Given the description of an element on the screen output the (x, y) to click on. 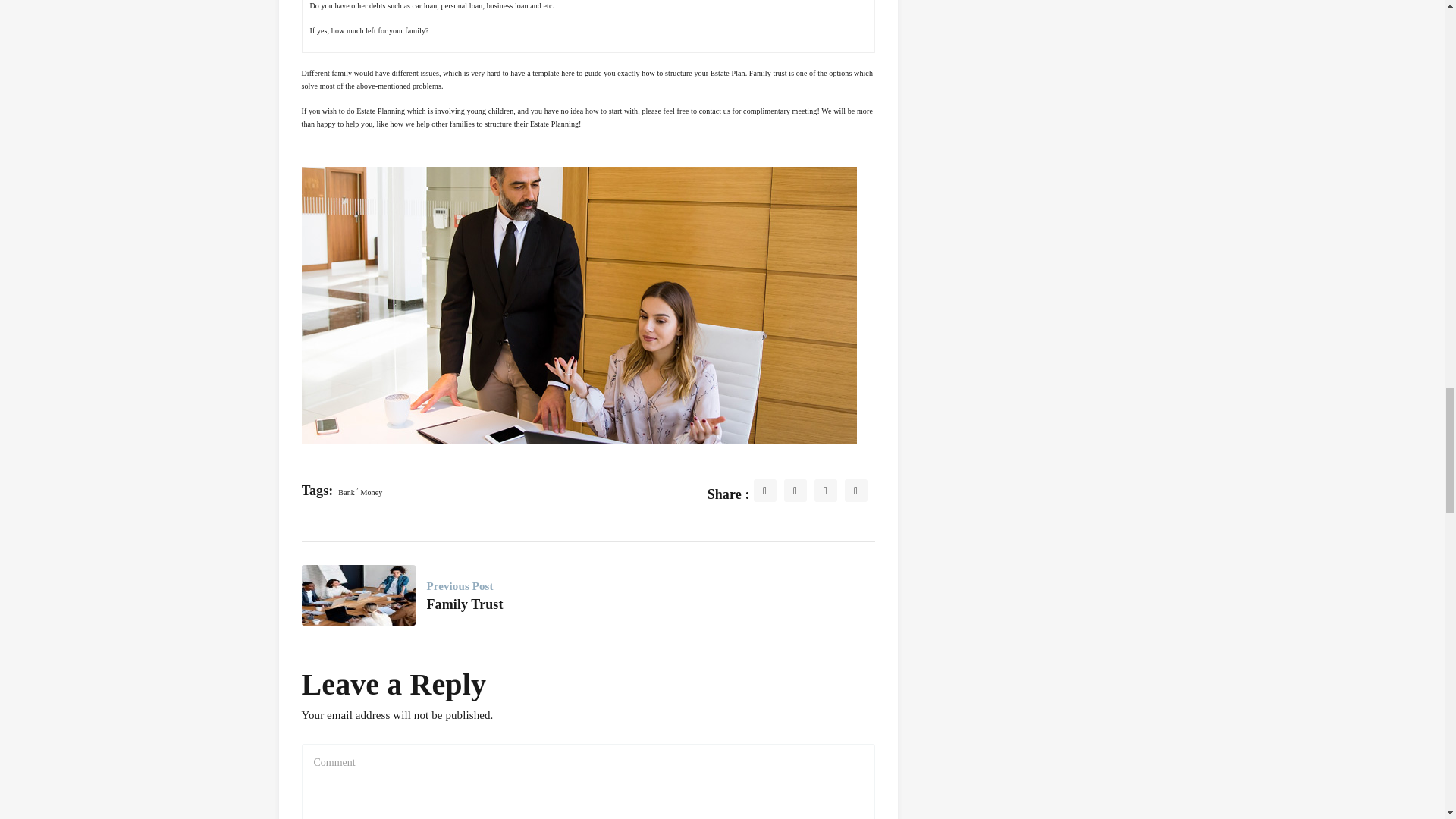
Money (372, 492)
Family Trust (464, 603)
Bank (347, 492)
Previous Post (464, 585)
